Given the description of an element on the screen output the (x, y) to click on. 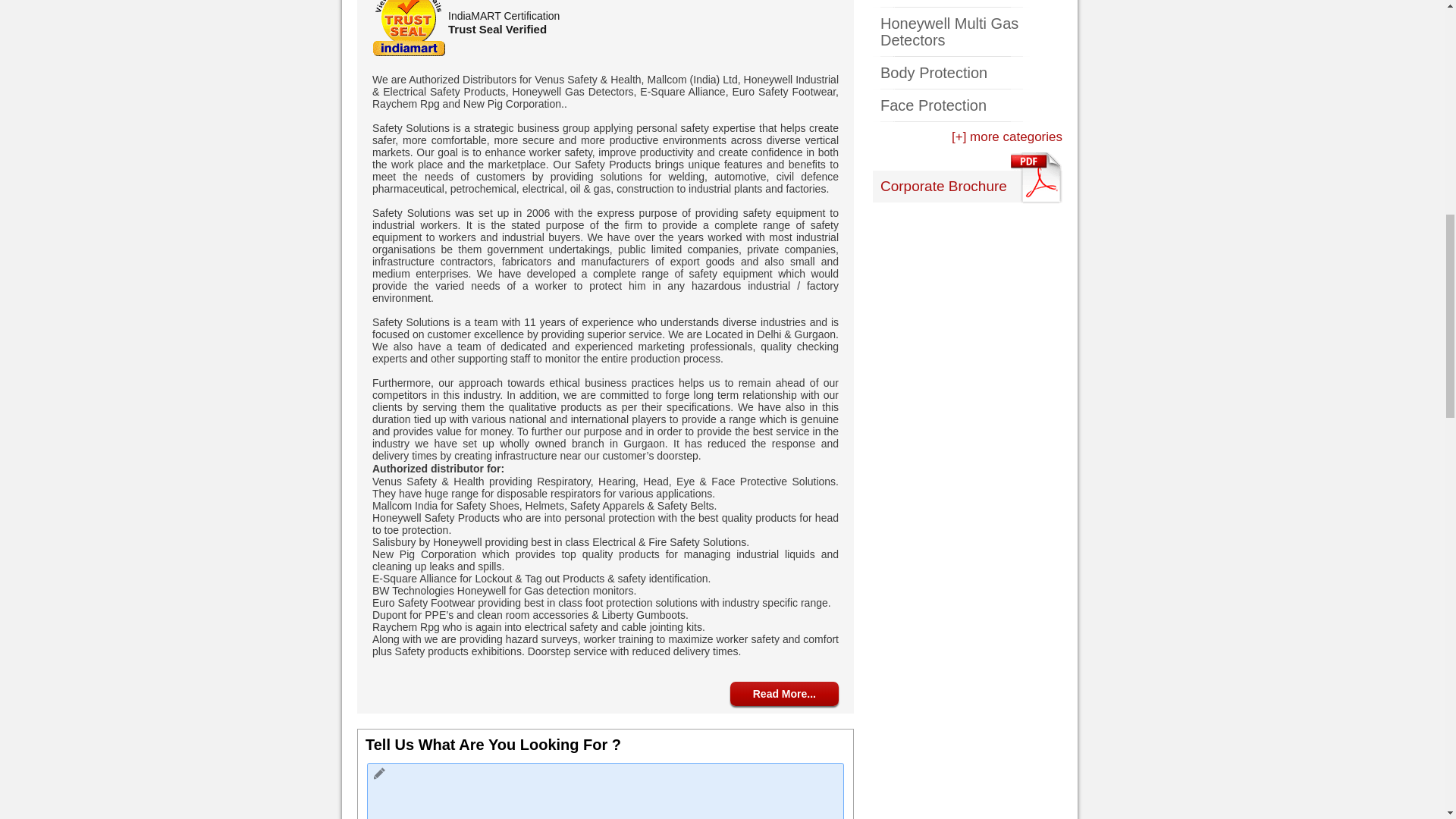
Body Protection (967, 72)
Face Protection (967, 111)
Honeywell Multi Gas Detectors (967, 31)
Eye Protection (967, 3)
